Given the description of an element on the screen output the (x, y) to click on. 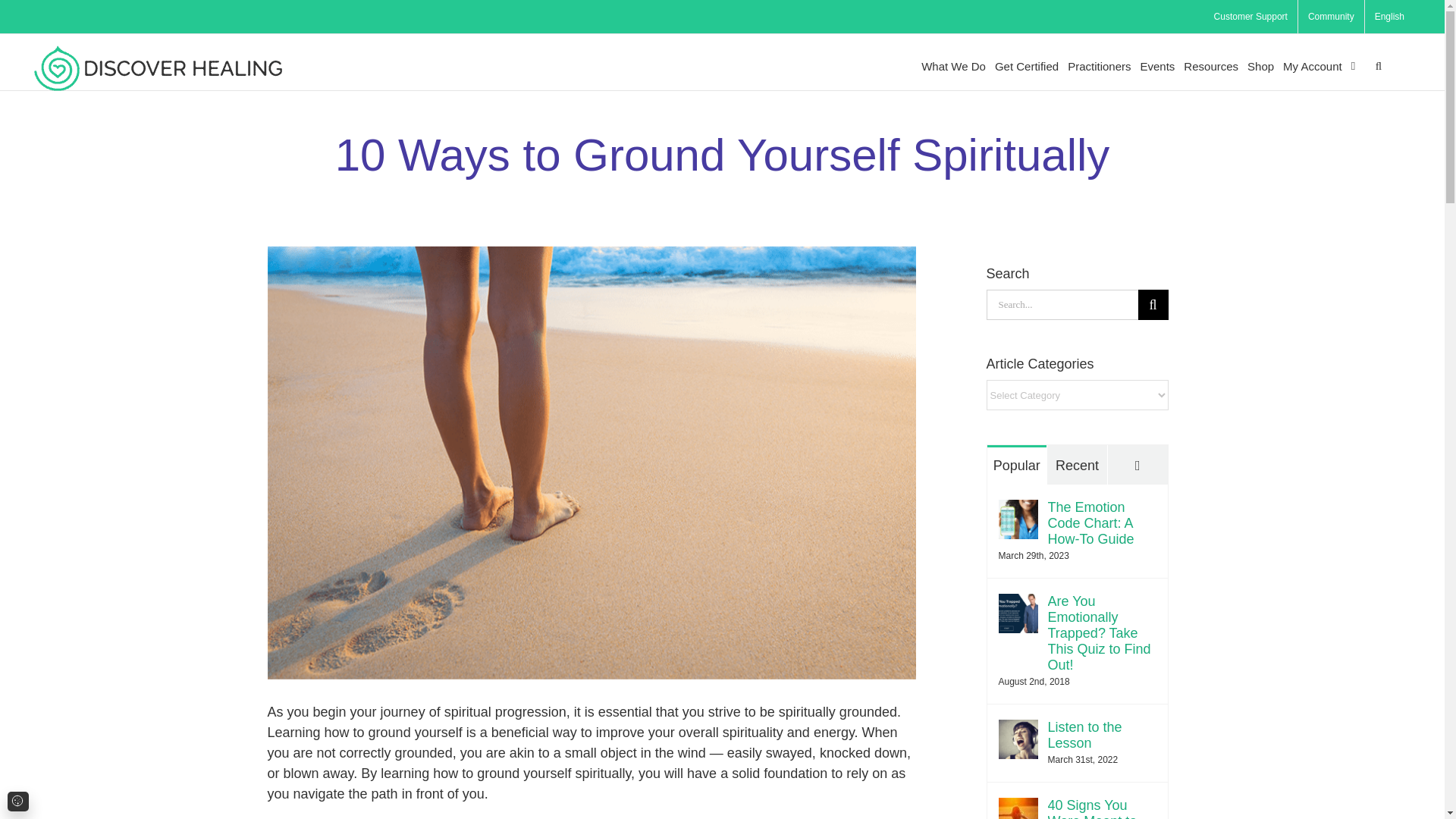
What We Do (953, 65)
Practitioners (1099, 65)
Community (1331, 16)
English (1389, 16)
English (1389, 16)
Get Certified (1026, 65)
Customer Support (1250, 16)
